Given the description of an element on the screen output the (x, y) to click on. 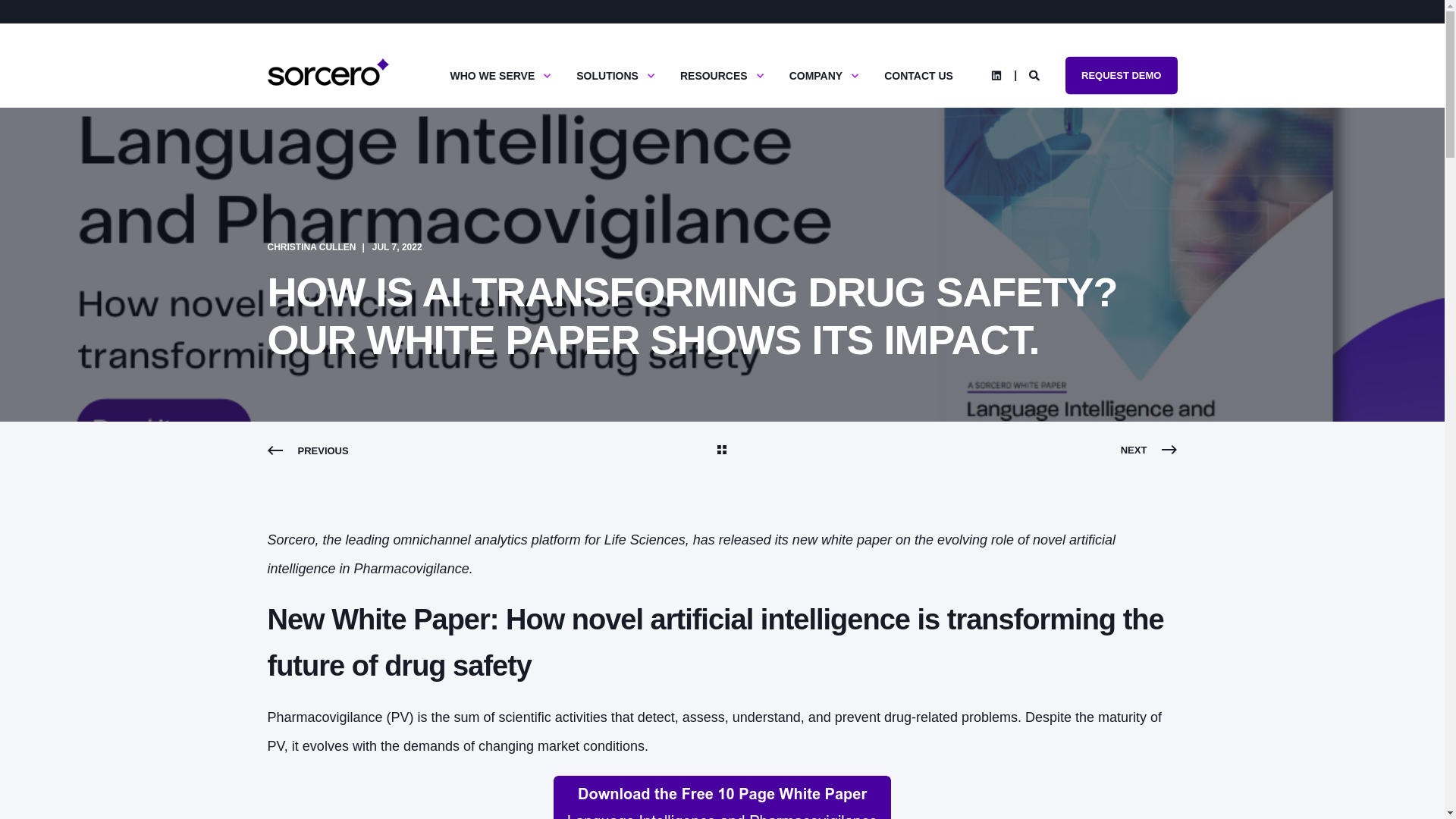
WHO WE SERVE (493, 74)
RESOURCES (715, 74)
COMPANY (818, 74)
SOLUTIONS (609, 74)
